Given the description of an element on the screen output the (x, y) to click on. 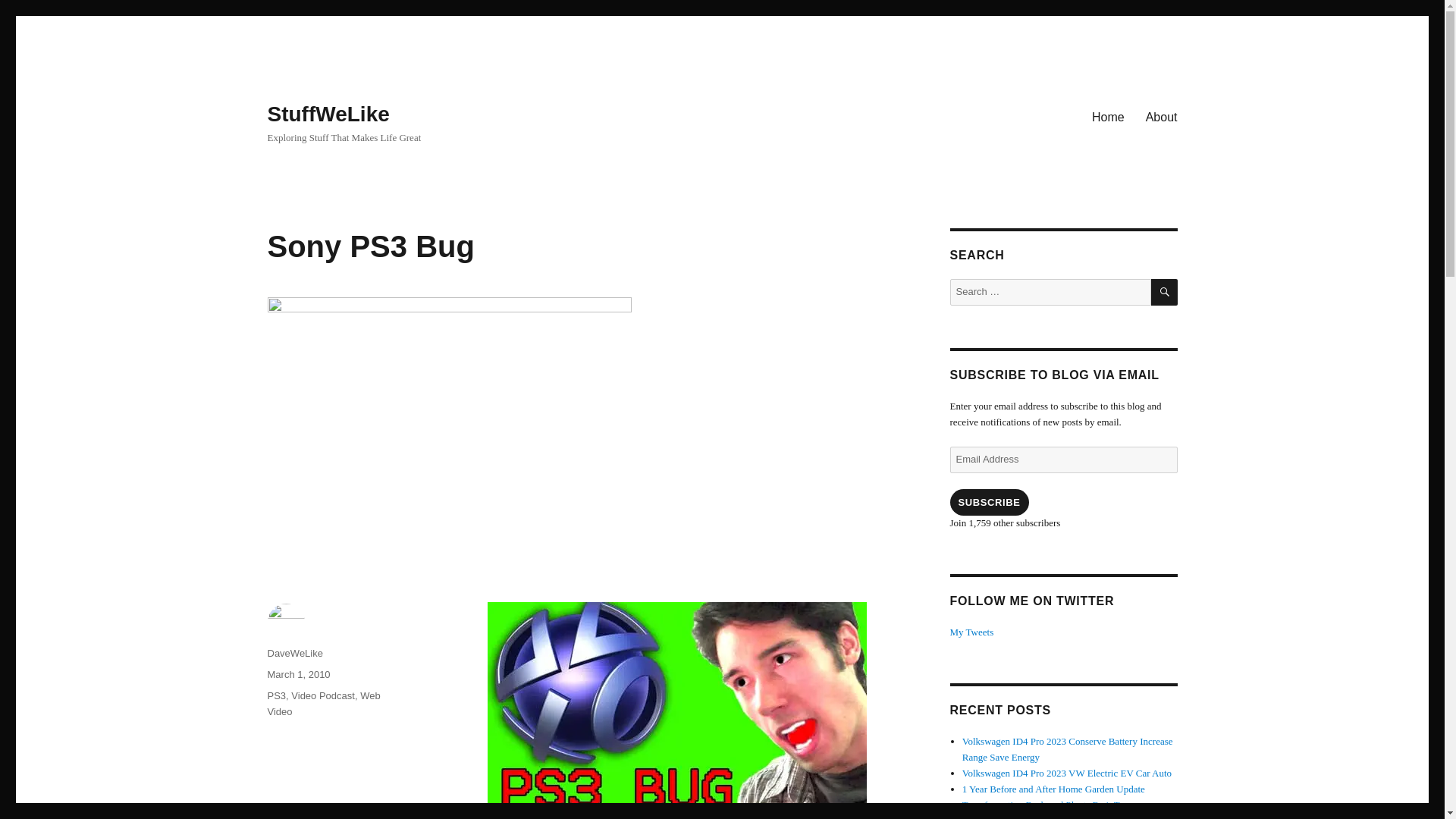
March 1, 2010 (298, 674)
Web Video (323, 703)
SUBSCRIBE (988, 501)
SEARCH (1164, 292)
StuffWeLike (327, 114)
Video Podcast (323, 695)
PS3 Bug (676, 707)
About (1161, 116)
